Given the description of an element on the screen output the (x, y) to click on. 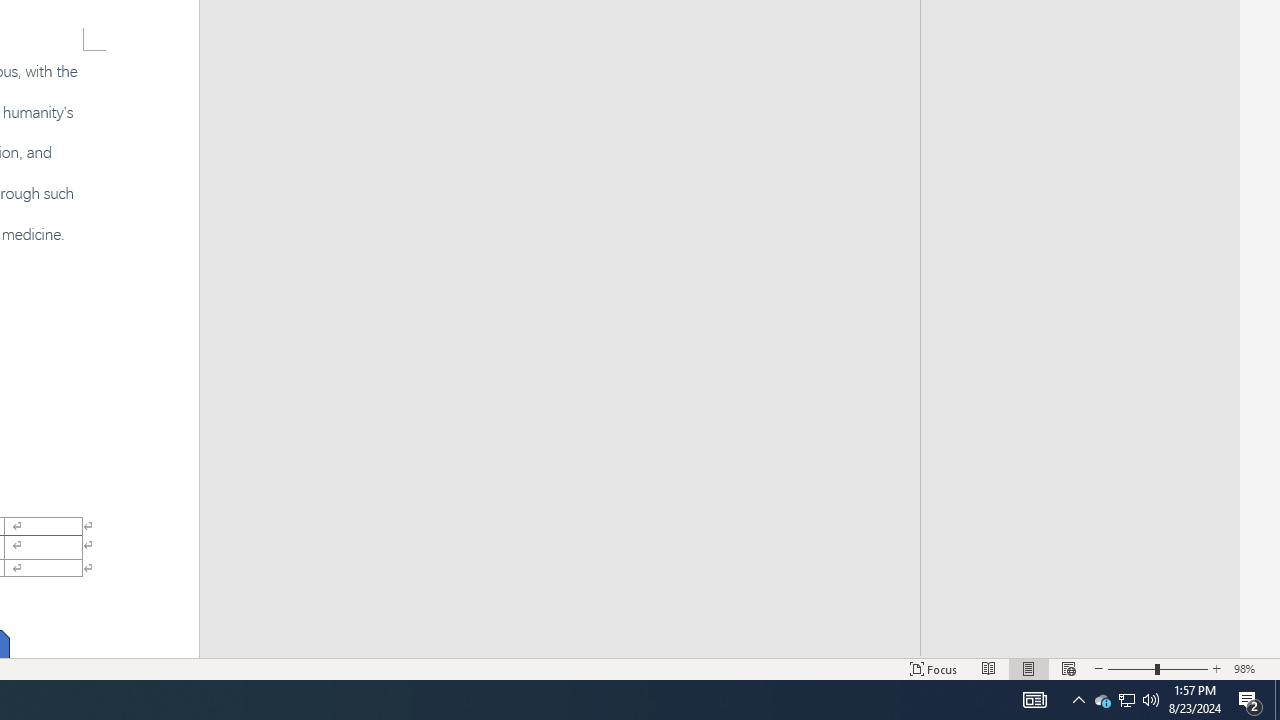
Zoom In (1217, 668)
Zoom (1158, 668)
Zoom Out (1131, 668)
Read Mode (988, 668)
Print Layout (1028, 668)
Web Layout (1069, 668)
Focus  (934, 668)
